Given the description of an element on the screen output the (x, y) to click on. 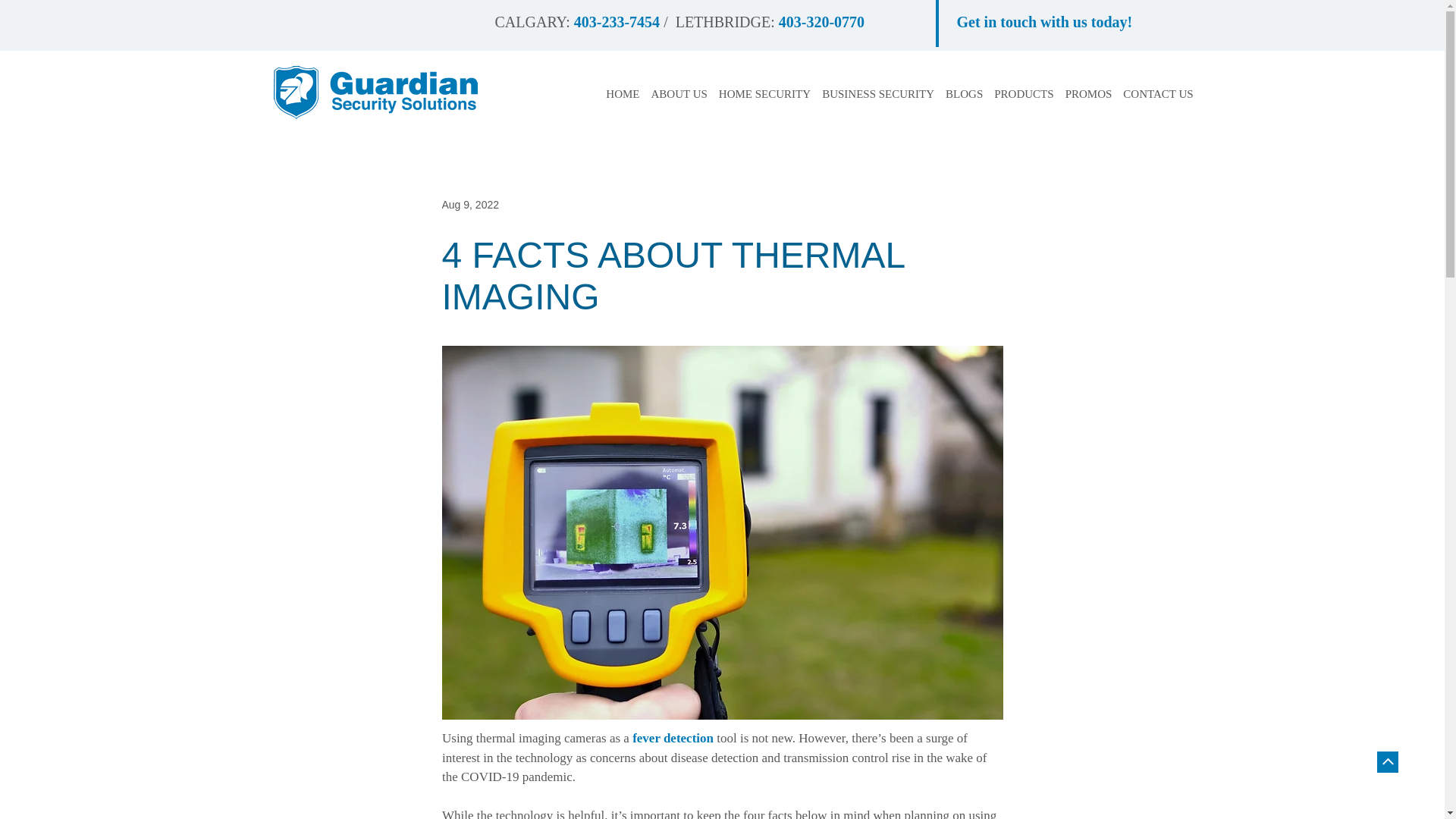
403-233-7454 (616, 24)
PRODUCTS (1023, 94)
Aug 9, 2022 (470, 204)
ABOUT US (678, 94)
Get in touch with us today! (1044, 24)
403-320-0770 (821, 24)
BUSINESS SECURITY (878, 94)
BLOGS (963, 94)
HOME (622, 94)
HOME SECURITY (764, 94)
